Given the description of an element on the screen output the (x, y) to click on. 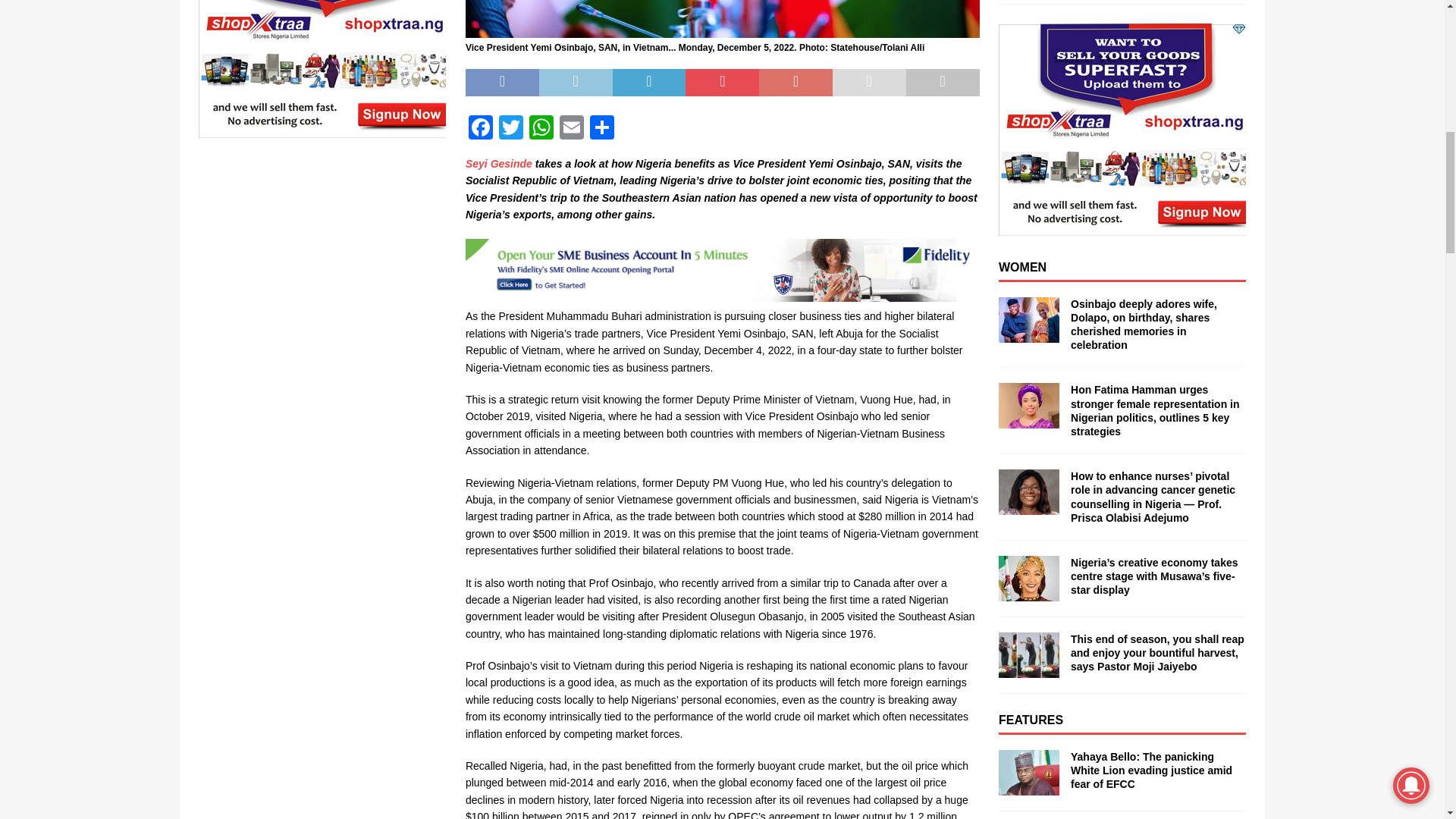
Facebook (480, 129)
Osinbajo-in-Vietnam (722, 18)
